Given the description of an element on the screen output the (x, y) to click on. 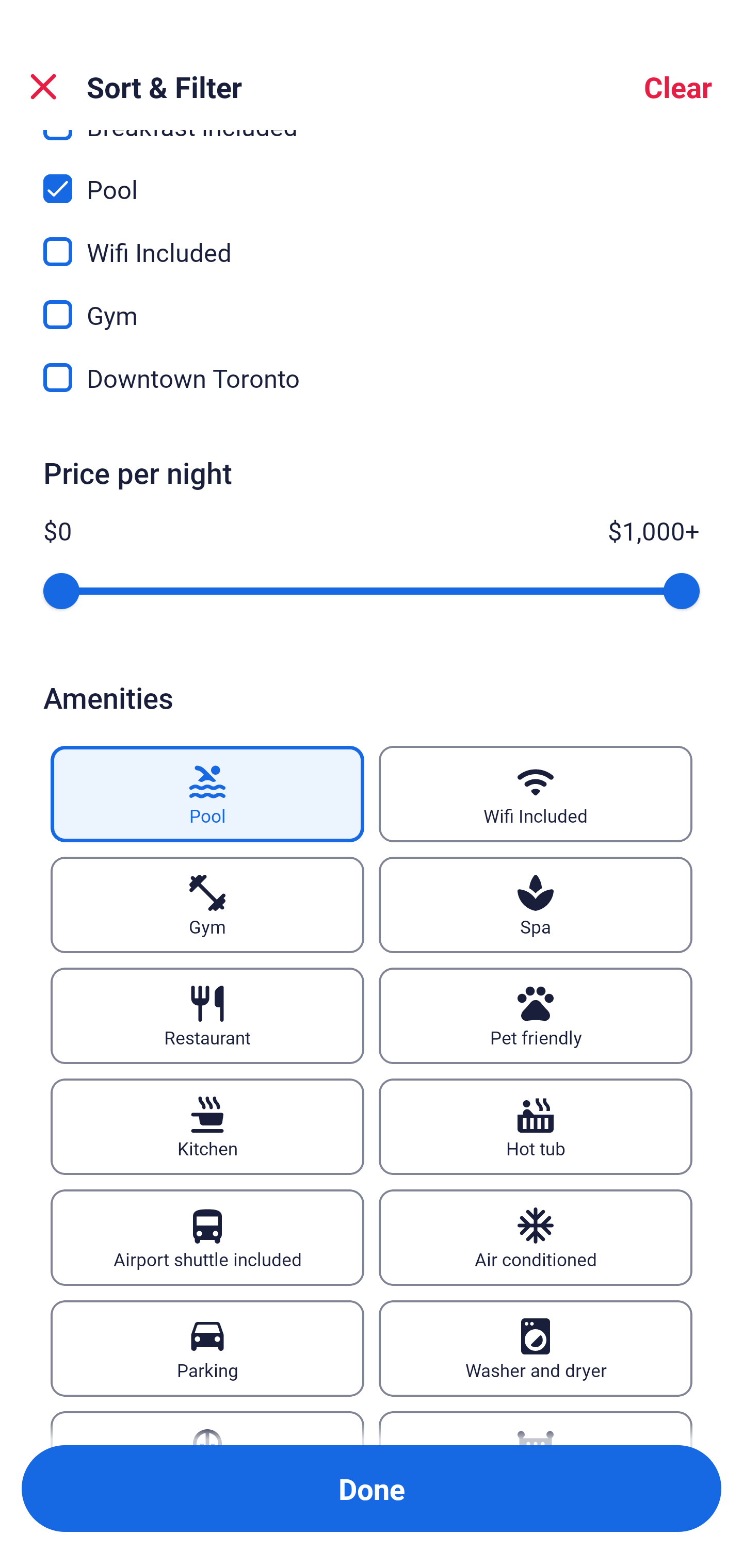
Close Sort and Filter (43, 86)
Clear (677, 86)
Pool, Pool (371, 176)
Wifi Included, Wifi Included (371, 239)
Gym, Gym (371, 302)
Downtown Toronto, Downtown Toronto (371, 377)
Pool (207, 794)
Wifi Included (535, 794)
Gym (207, 904)
Spa (535, 904)
Restaurant (207, 1015)
Pet friendly (535, 1015)
Kitchen (207, 1126)
Hot tub (535, 1126)
Airport shuttle included (207, 1237)
Air conditioned (535, 1237)
Parking (207, 1348)
Washer and dryer (535, 1348)
Apply and close Sort and Filter Done (371, 1488)
